Given the description of an element on the screen output the (x, y) to click on. 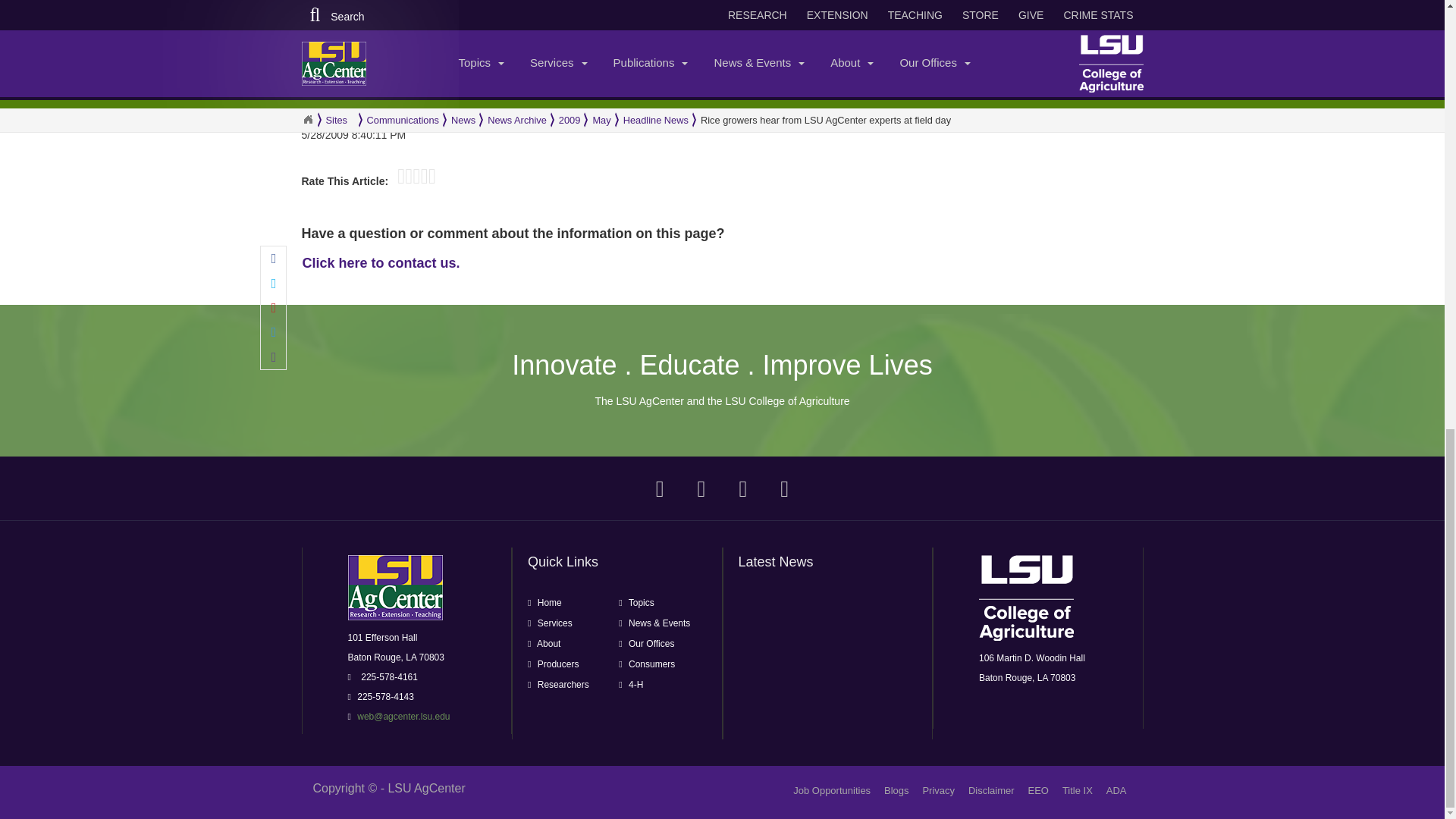
Disclaimer (991, 790)
Blogs (895, 790)
Careers (831, 790)
Title IX (1077, 790)
Privacyp (938, 790)
ADA Web Content Accessibility (1116, 790)
EEO (1037, 790)
